Given the description of an element on the screen output the (x, y) to click on. 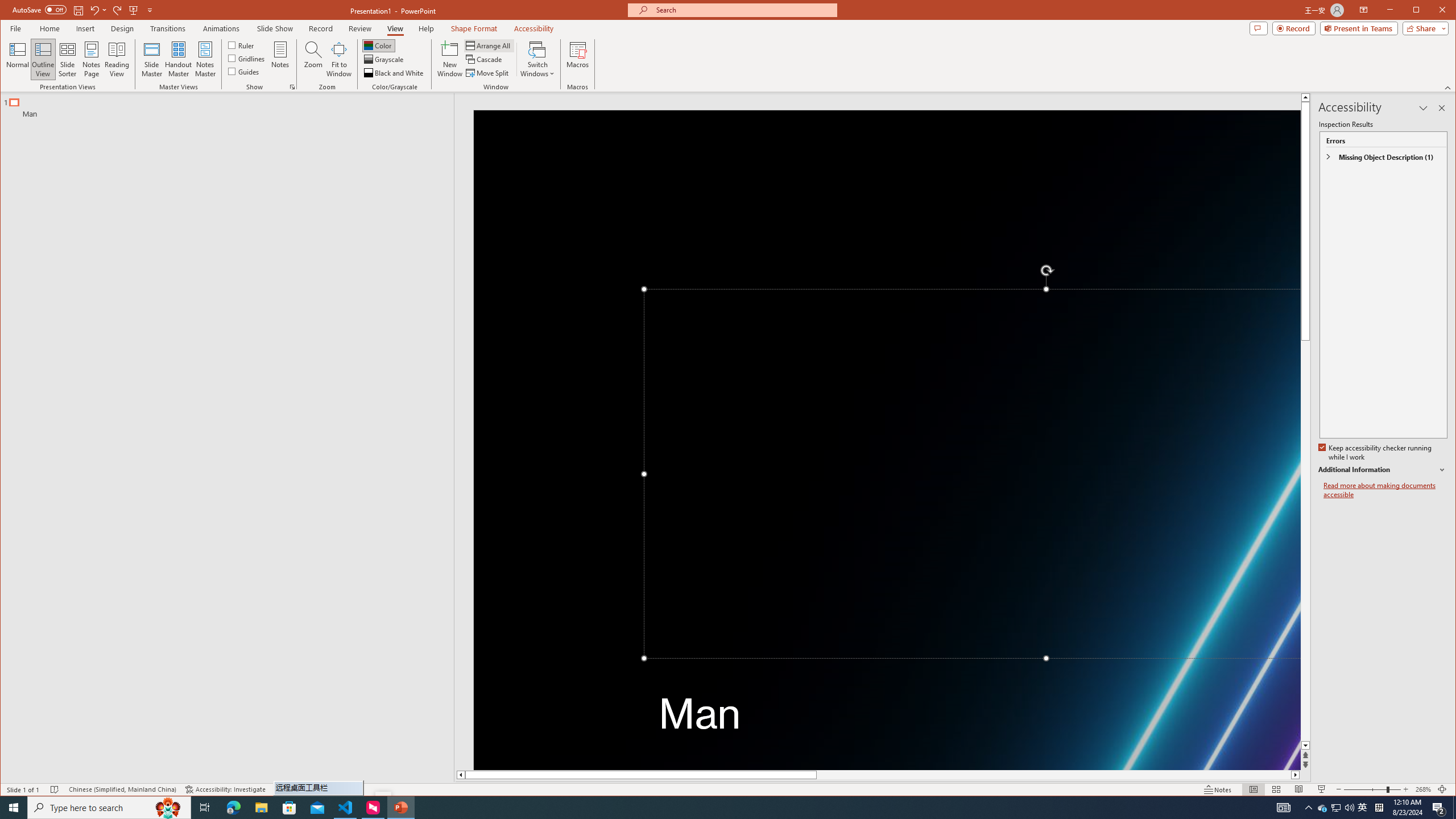
Notes Page (91, 59)
Macros (576, 59)
Zoom... (312, 59)
